Given the description of an element on the screen output the (x, y) to click on. 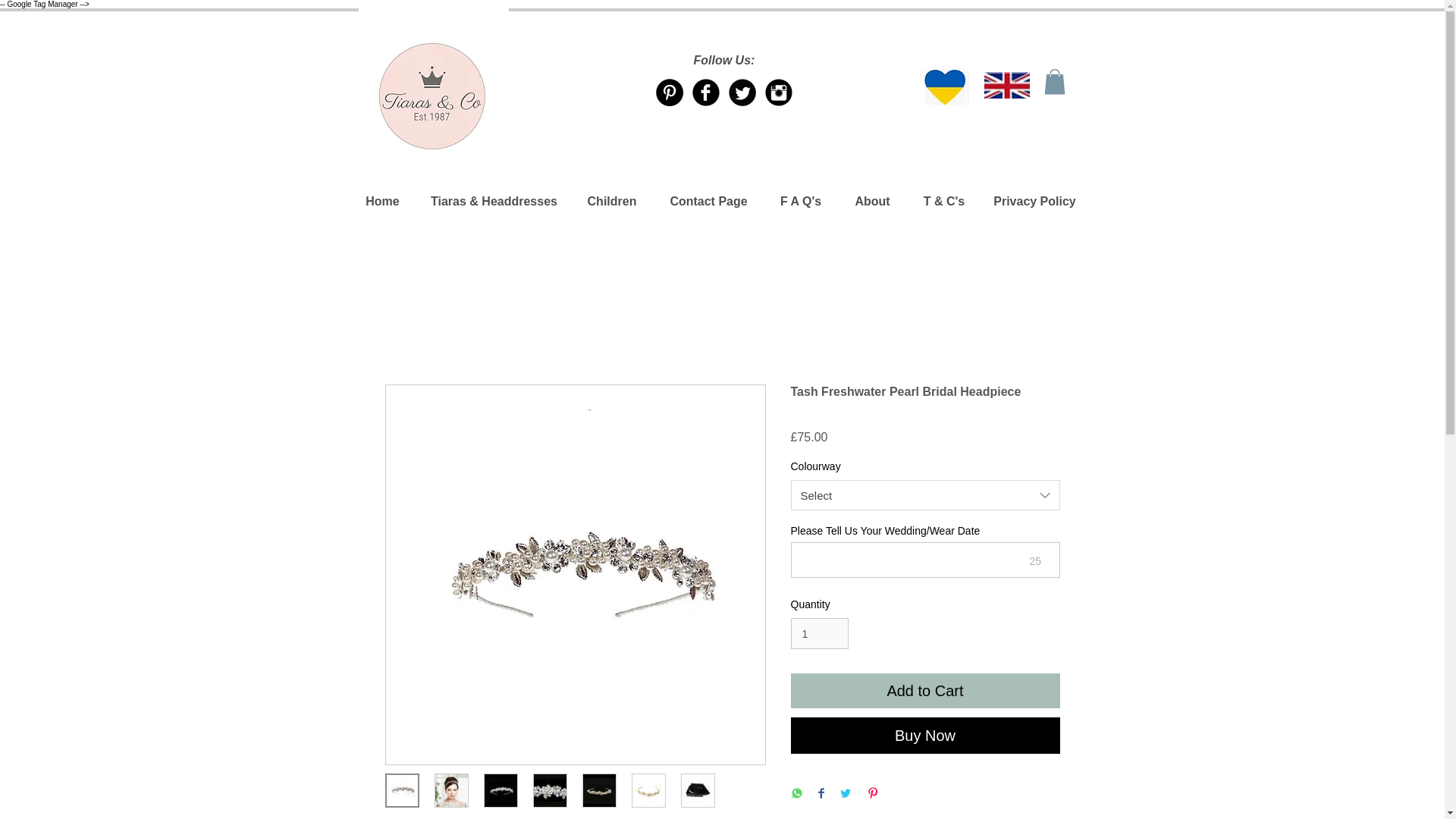
About (872, 201)
Buy Now (924, 735)
1 (818, 633)
Home (381, 201)
Select (924, 494)
Union Jack Flag (1006, 85)
Privacy Policy (1035, 201)
Add to Cart (924, 690)
F A Q's (801, 201)
Contact Page (708, 201)
